Given the description of an element on the screen output the (x, y) to click on. 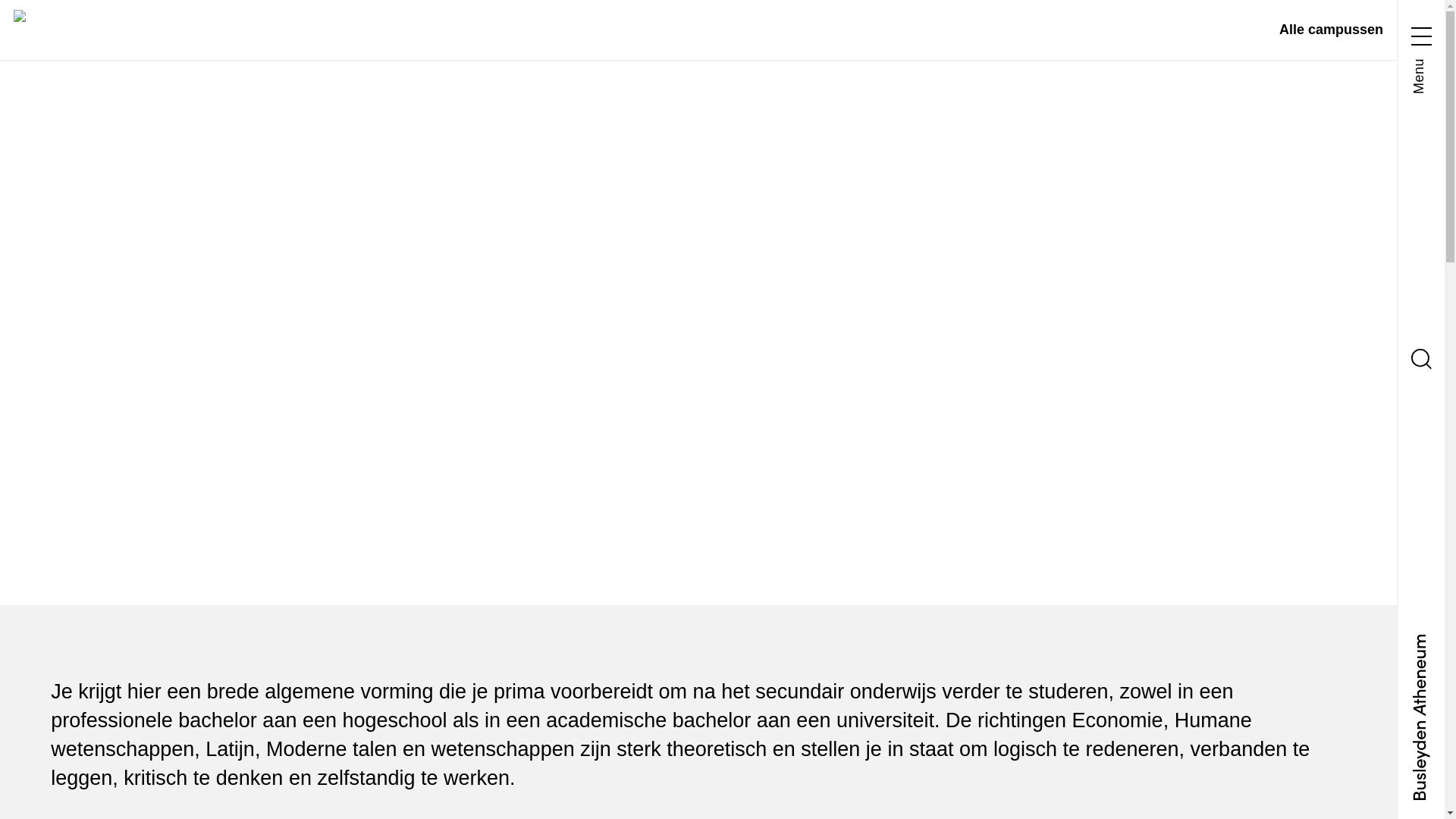
Menu Element type: text (1421, 56)
Alle campussen Element type: text (1331, 29)
